Given the description of an element on the screen output the (x, y) to click on. 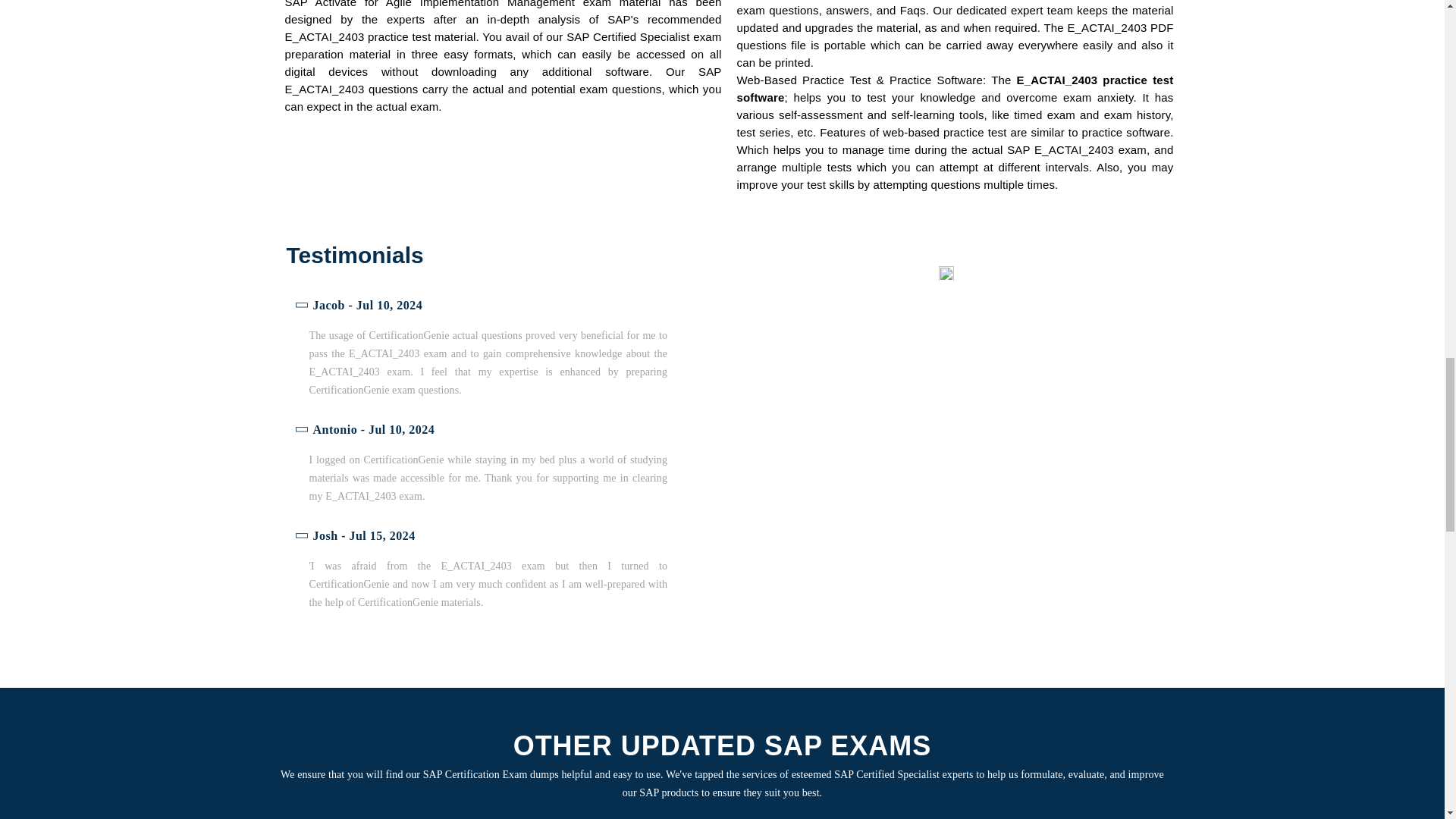
Josh - Jul 15, 2024 (482, 536)
Jacob - Jul 10, 2024 (482, 305)
Antonio - Jul 10, 2024 (482, 429)
